Given the description of an element on the screen output the (x, y) to click on. 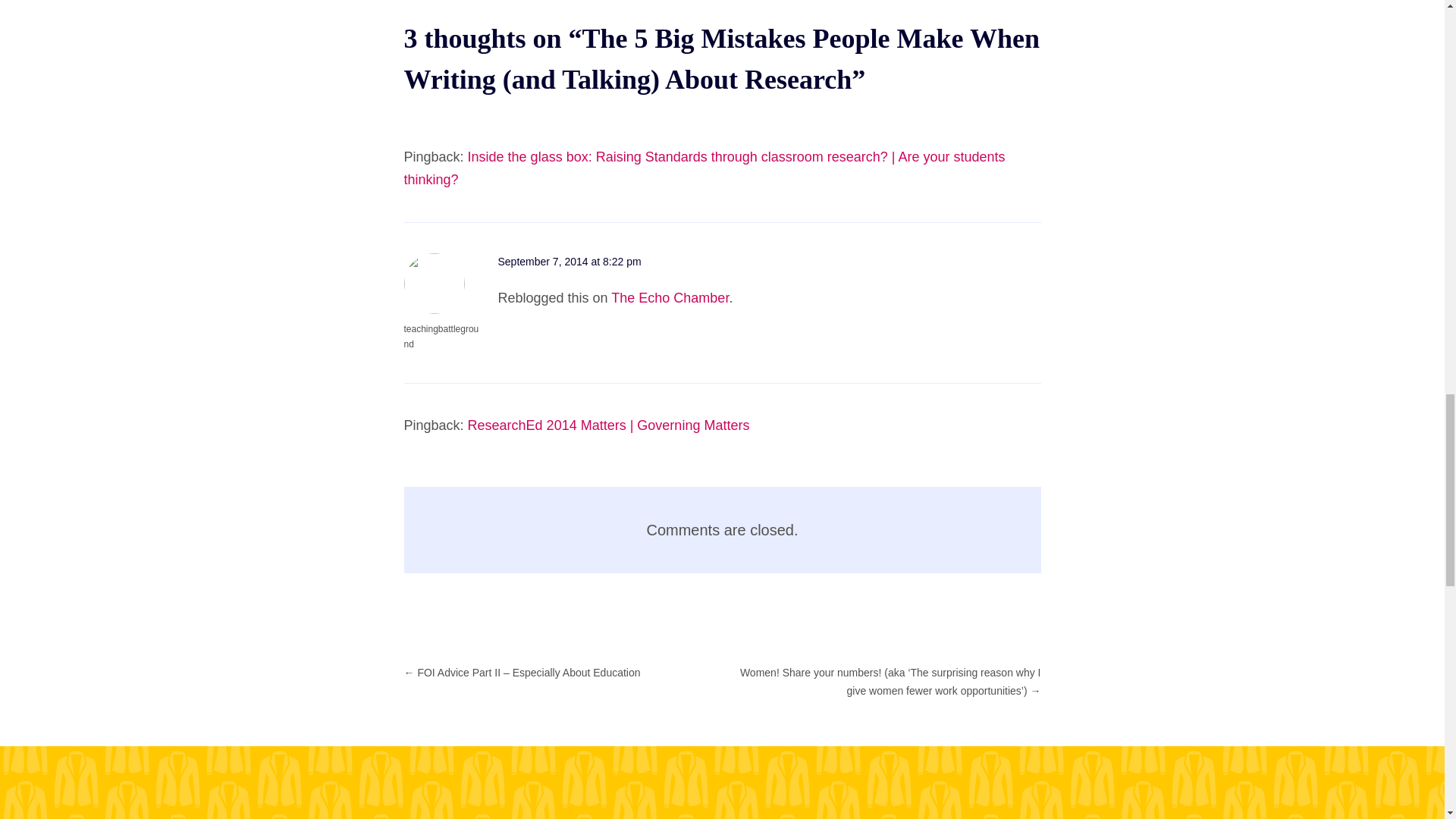
The Echo Chamber (670, 297)
teachingbattleground (441, 336)
September 7, 2014 at 8:22 pm (568, 261)
